Given the description of an element on the screen output the (x, y) to click on. 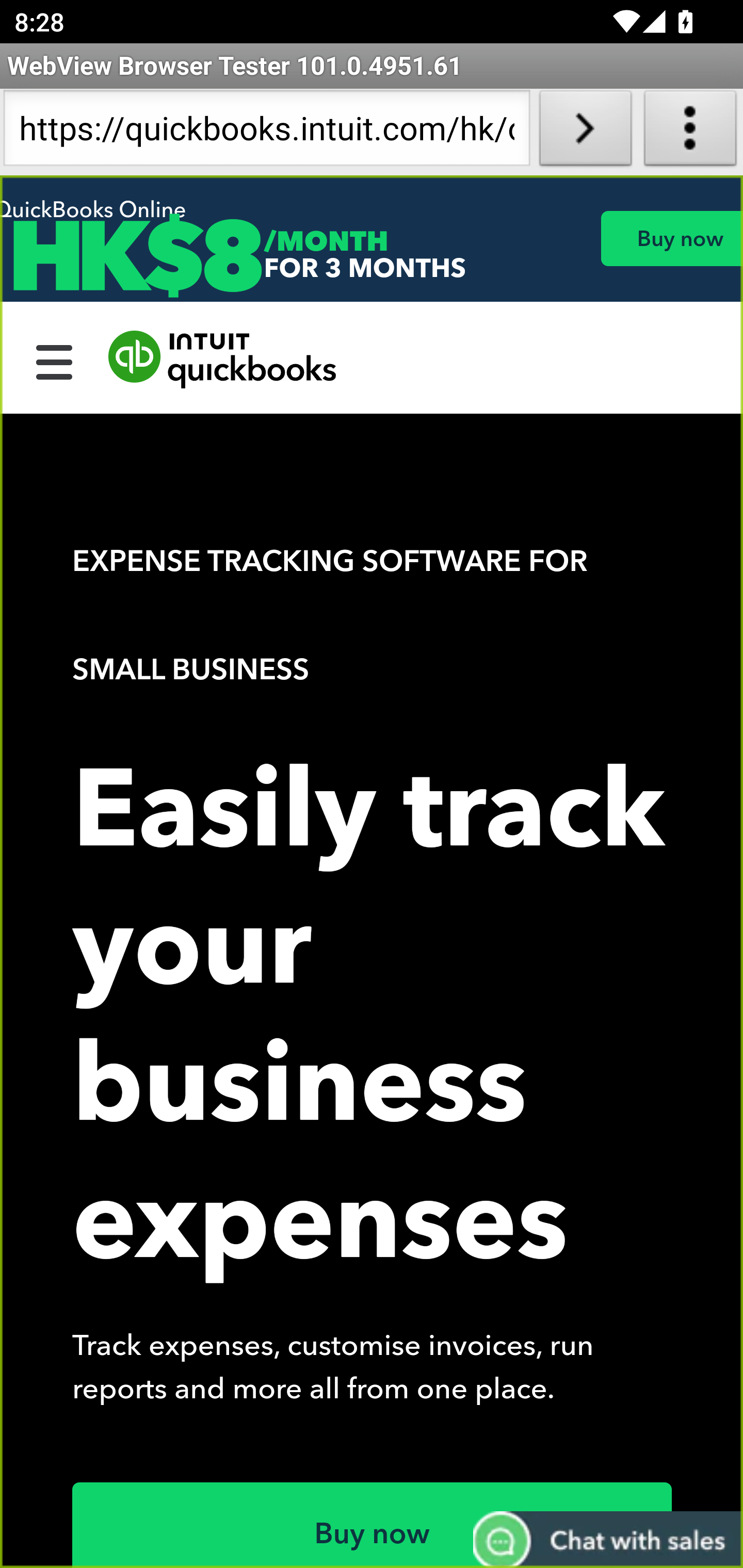
Load URL (585, 132)
About WebView (690, 132)
Buy now (671, 238)
quickbooks-mobile-burger (54, 359)
quickbooks (222, 359)
Buy now (372, 1524)
